Given the description of an element on the screen output the (x, y) to click on. 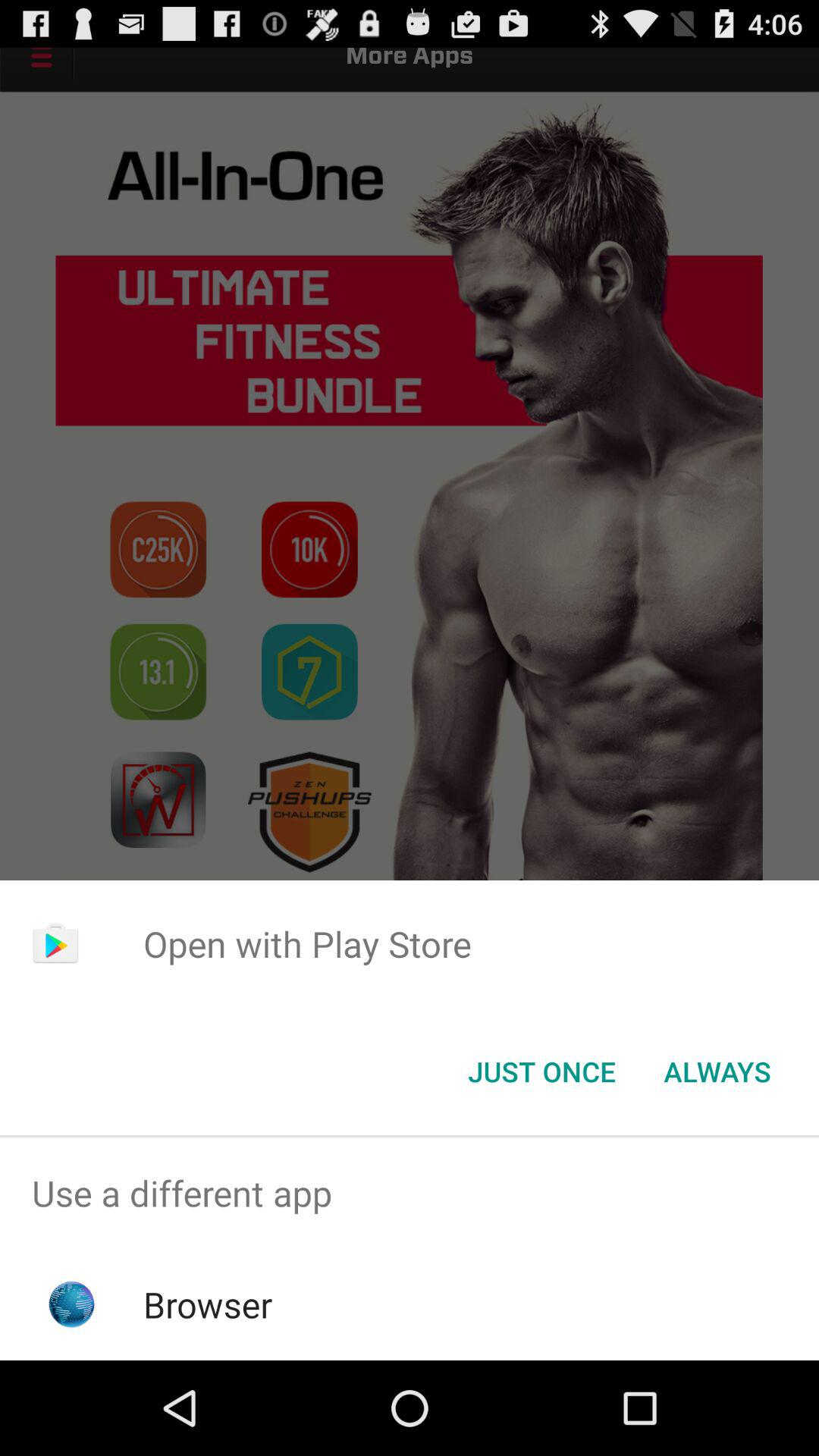
turn on the app below the open with play item (541, 1071)
